Given the description of an element on the screen output the (x, y) to click on. 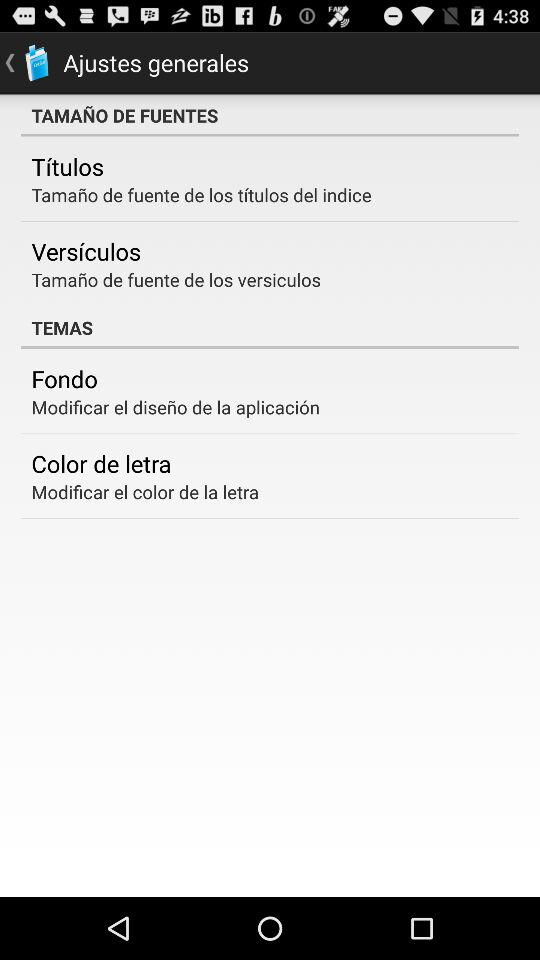
tap the temas icon (270, 327)
